Given the description of an element on the screen output the (x, y) to click on. 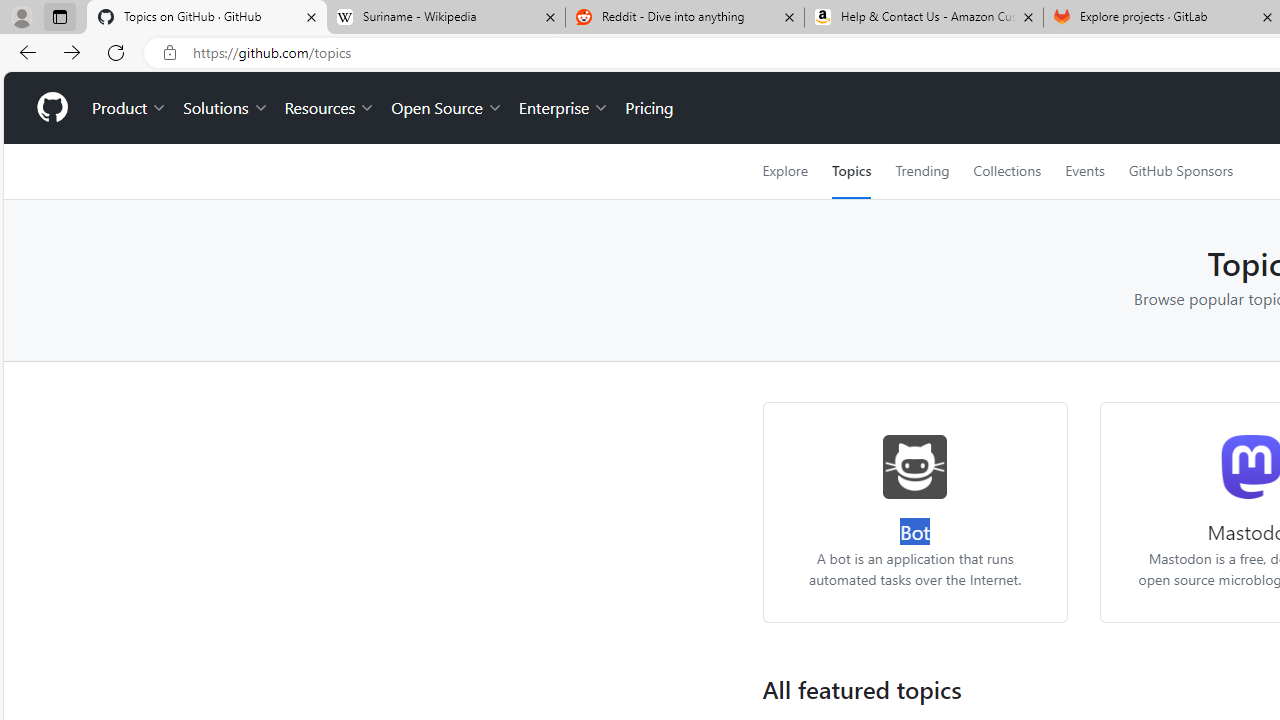
Open Source (446, 107)
Enterprise (563, 107)
Help & Contact Us - Amazon Customer Service (924, 17)
Homepage (51, 107)
GitHub Sponsors (1180, 171)
Suriname - Wikipedia (445, 17)
Topics (851, 171)
Resources (330, 107)
Enterprise (563, 107)
Product (130, 107)
Reddit - Dive into anything (684, 17)
Resources (330, 107)
